Given the description of an element on the screen output the (x, y) to click on. 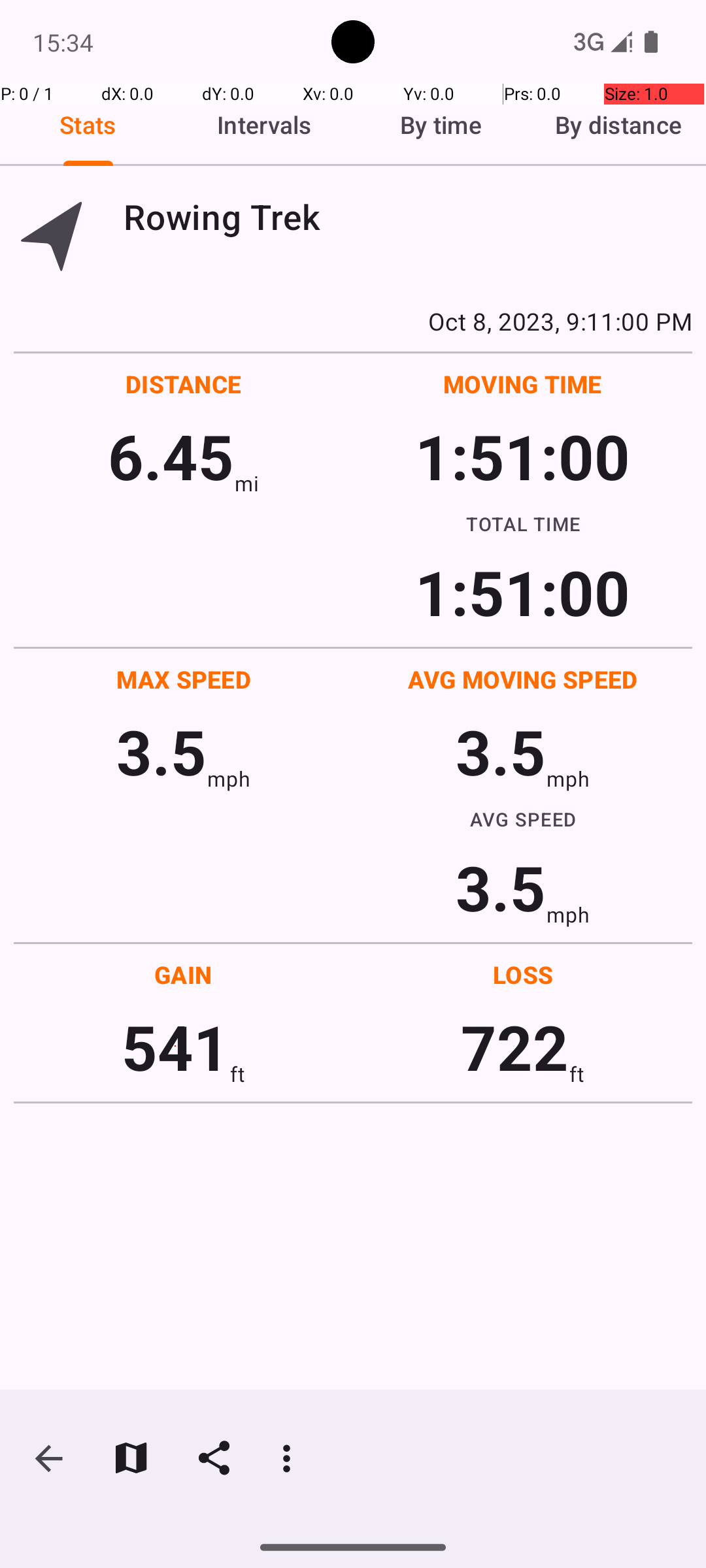
Stats Element type: android.widget.LinearLayout (88, 124)
Intervals Element type: android.widget.LinearLayout (264, 124)
By time Element type: android.widget.LinearLayout (441, 124)
By distance Element type: android.widget.LinearLayout (617, 124)
Show on map Element type: android.widget.Button (130, 1458)
Rowing Trek Element type: android.widget.TextView (407, 216)
Oct 8, 2023, 9:11:00 PM Element type: android.widget.TextView (352, 320)
DISTANCE Element type: android.widget.TextView (183, 383)
MOVING TIME Element type: android.widget.TextView (522, 383)
6.45 Element type: android.widget.TextView (170, 455)
mi Element type: android.widget.TextView (246, 483)
1:51:00 Element type: android.widget.TextView (522, 455)
TOTAL TIME Element type: android.widget.TextView (522, 523)
MAX SPEED Element type: android.widget.TextView (183, 678)
AVG MOVING SPEED Element type: android.widget.TextView (522, 678)
3.5 Element type: android.widget.TextView (161, 750)
mph Element type: android.widget.TextView (228, 778)
AVG SPEED Element type: android.widget.TextView (522, 818)
GAIN Element type: android.widget.TextView (183, 974)
LOSS Element type: android.widget.TextView (522, 974)
541 Element type: android.widget.TextView (175, 1045)
ft Element type: android.widget.TextView (237, 1073)
722 Element type: android.widget.TextView (514, 1045)
